Given the description of an element on the screen output the (x, y) to click on. 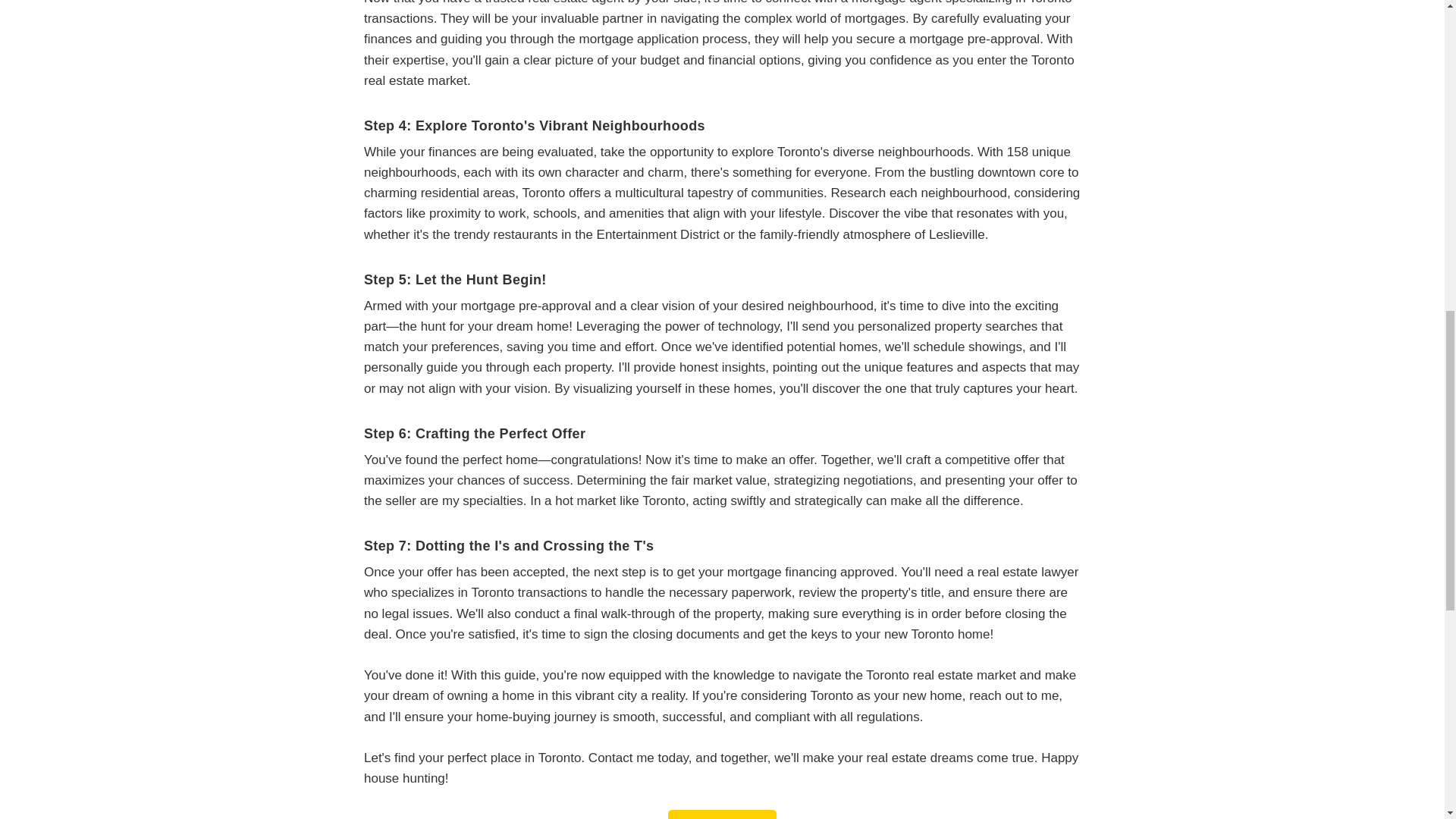
Contact me (722, 814)
